Given the description of an element on the screen output the (x, y) to click on. 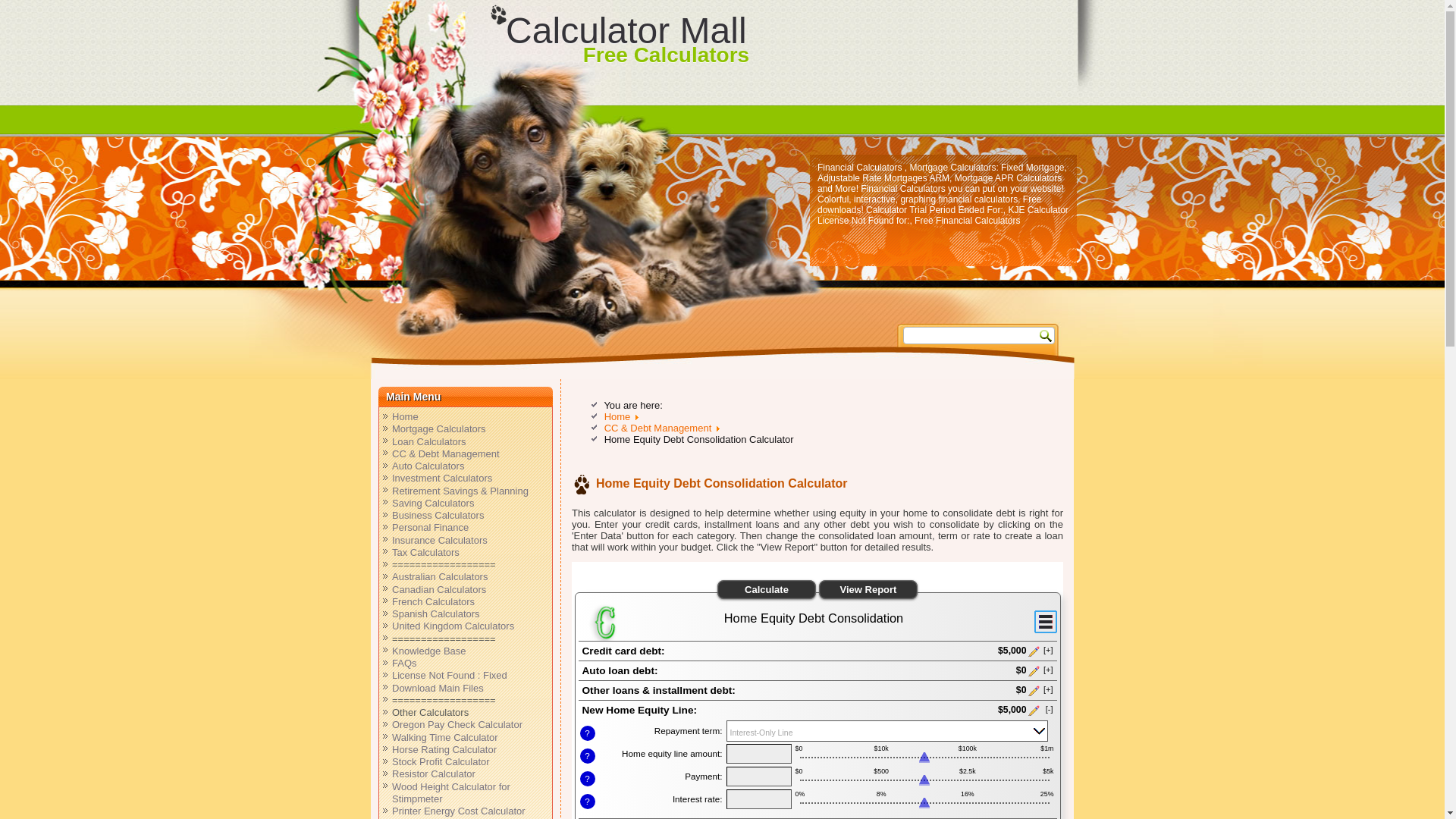
Home (617, 416)
50 (923, 780)
Saving Calculators (432, 502)
Personal Finance (429, 527)
Resistor Calculator (433, 773)
Download Main Files (437, 687)
Business Calculators (437, 514)
Calculator Mall (625, 30)
Horse Rating Calculator (443, 749)
Spanish Calculators (435, 613)
Stock Profit Calculator (440, 761)
French Calculators (432, 601)
Printer Energy Cost Calculator (458, 810)
Paper Cup Volume (432, 818)
Auto Calculators (427, 465)
